Given the description of an element on the screen output the (x, y) to click on. 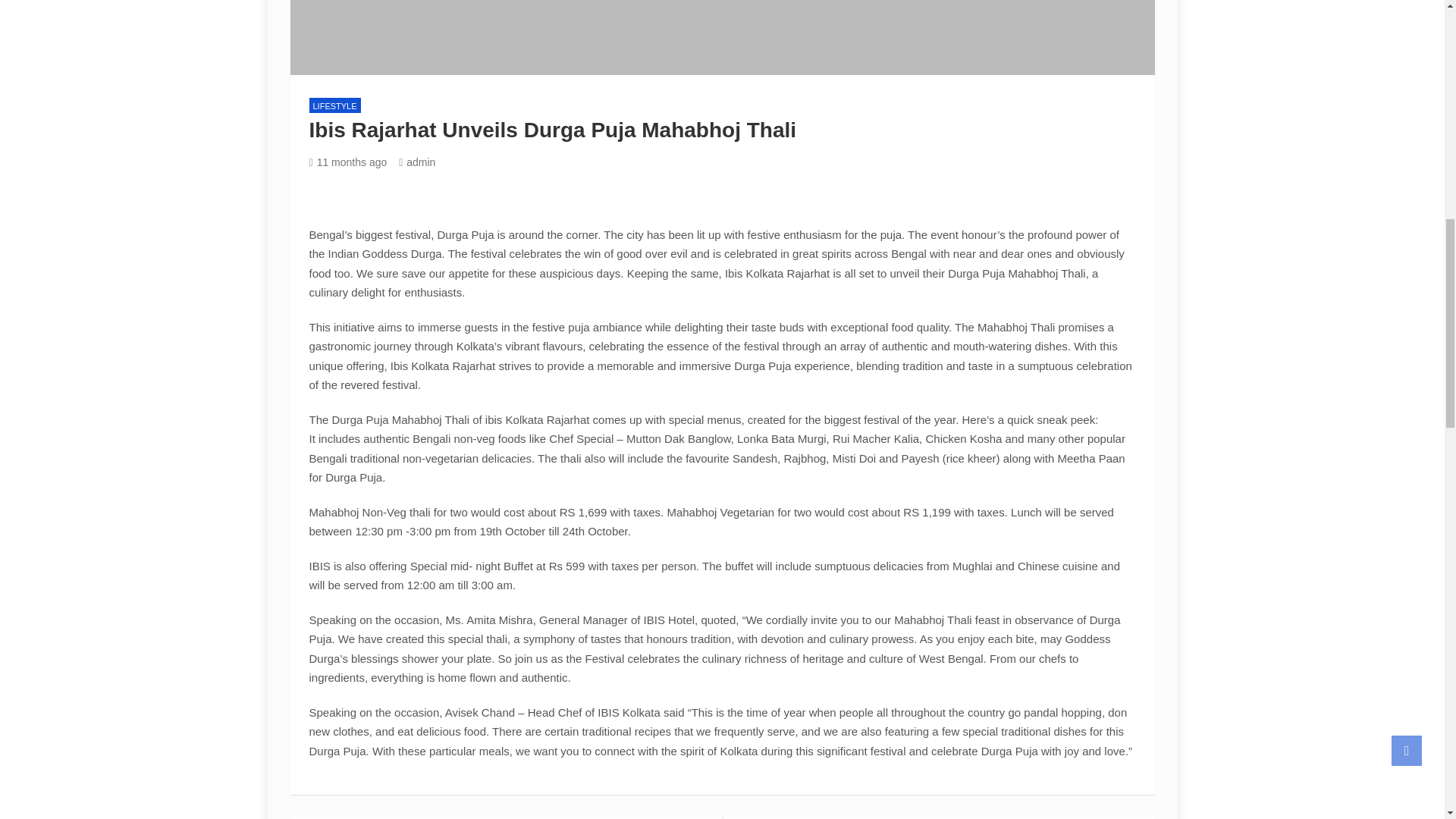
admin (416, 162)
Ibis Rajarhat Unveils Durga Puja Mahabhoj Thali (347, 162)
LIFESTYLE (334, 105)
11 months ago (347, 162)
